Given the description of an element on the screen output the (x, y) to click on. 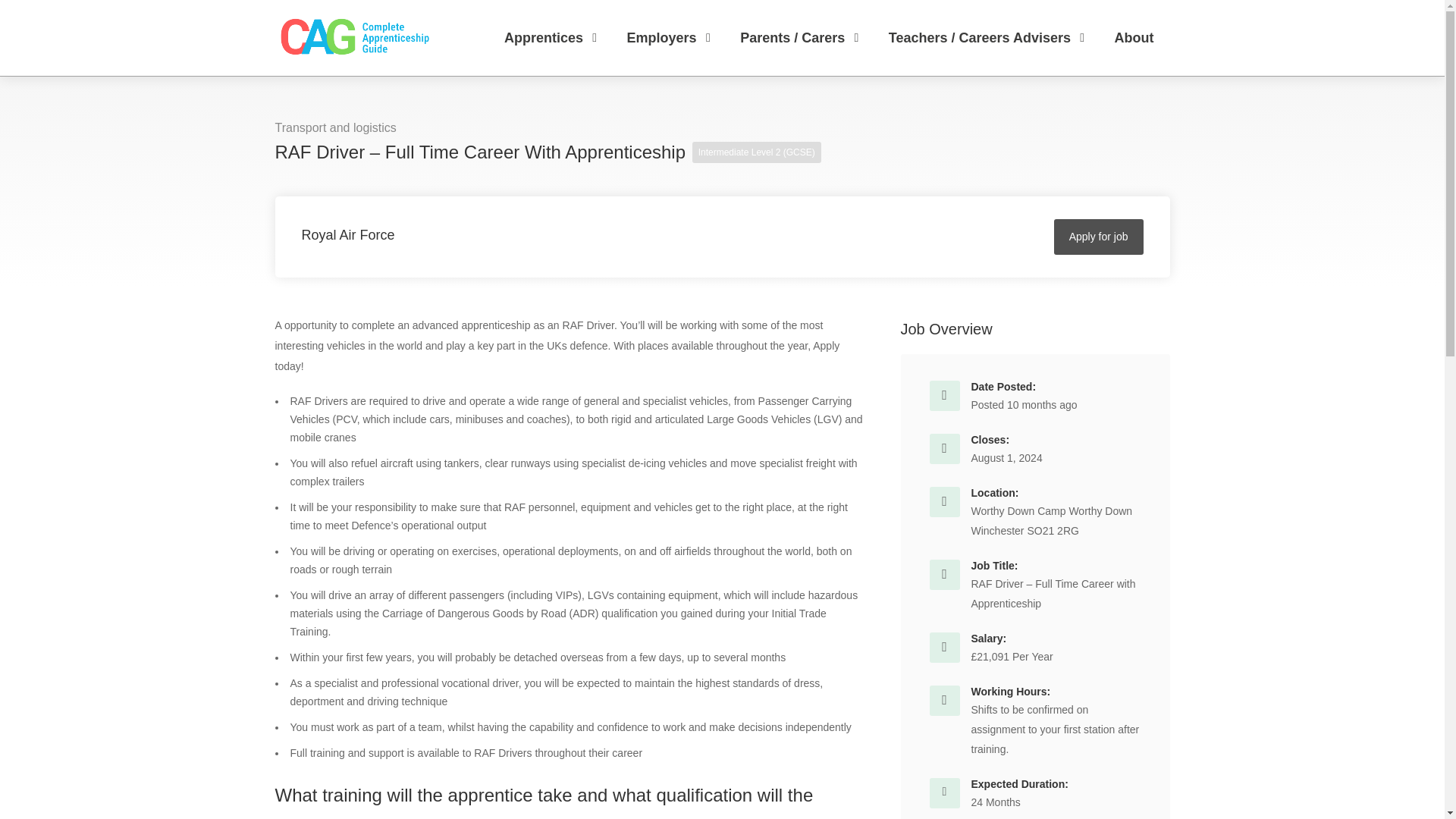
Apprentices (552, 37)
Royal Air Force (347, 234)
About (1134, 37)
Transport and logistics (335, 127)
Employers (671, 37)
